Given the description of an element on the screen output the (x, y) to click on. 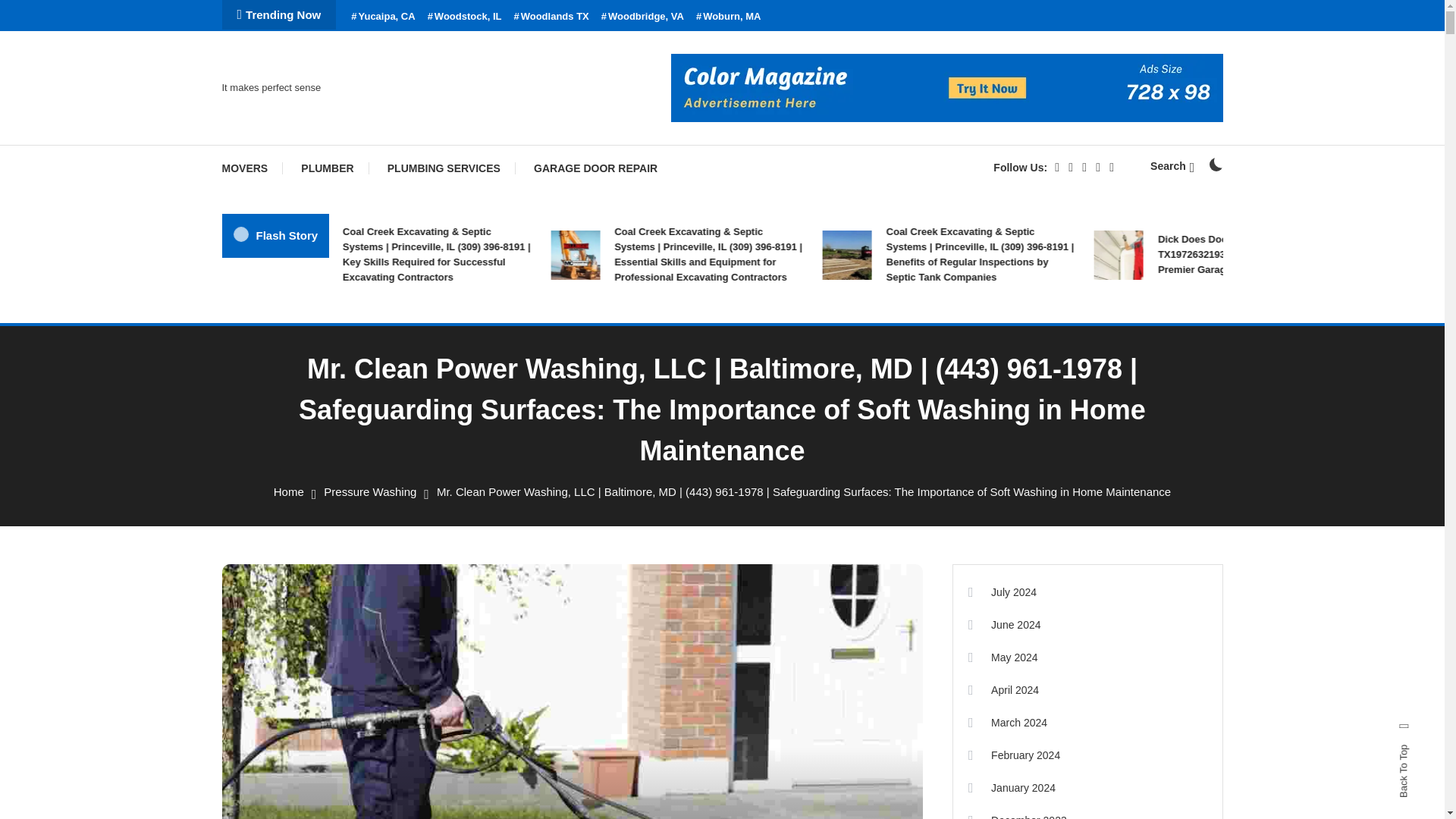
PLUMBING SERVICES (443, 167)
PLUMBER (326, 167)
Yucaipa, CA (382, 16)
on (1215, 164)
Home (288, 491)
Woodbridge, VA (642, 16)
Search (768, 434)
GARAGE DOOR REPAIR (595, 167)
Woodstock, IL (465, 16)
Woburn, MA (728, 16)
Woodlands TX (550, 16)
Search (1171, 165)
MOVERS (251, 167)
Skip To Content (40, 10)
